Given the description of an element on the screen output the (x, y) to click on. 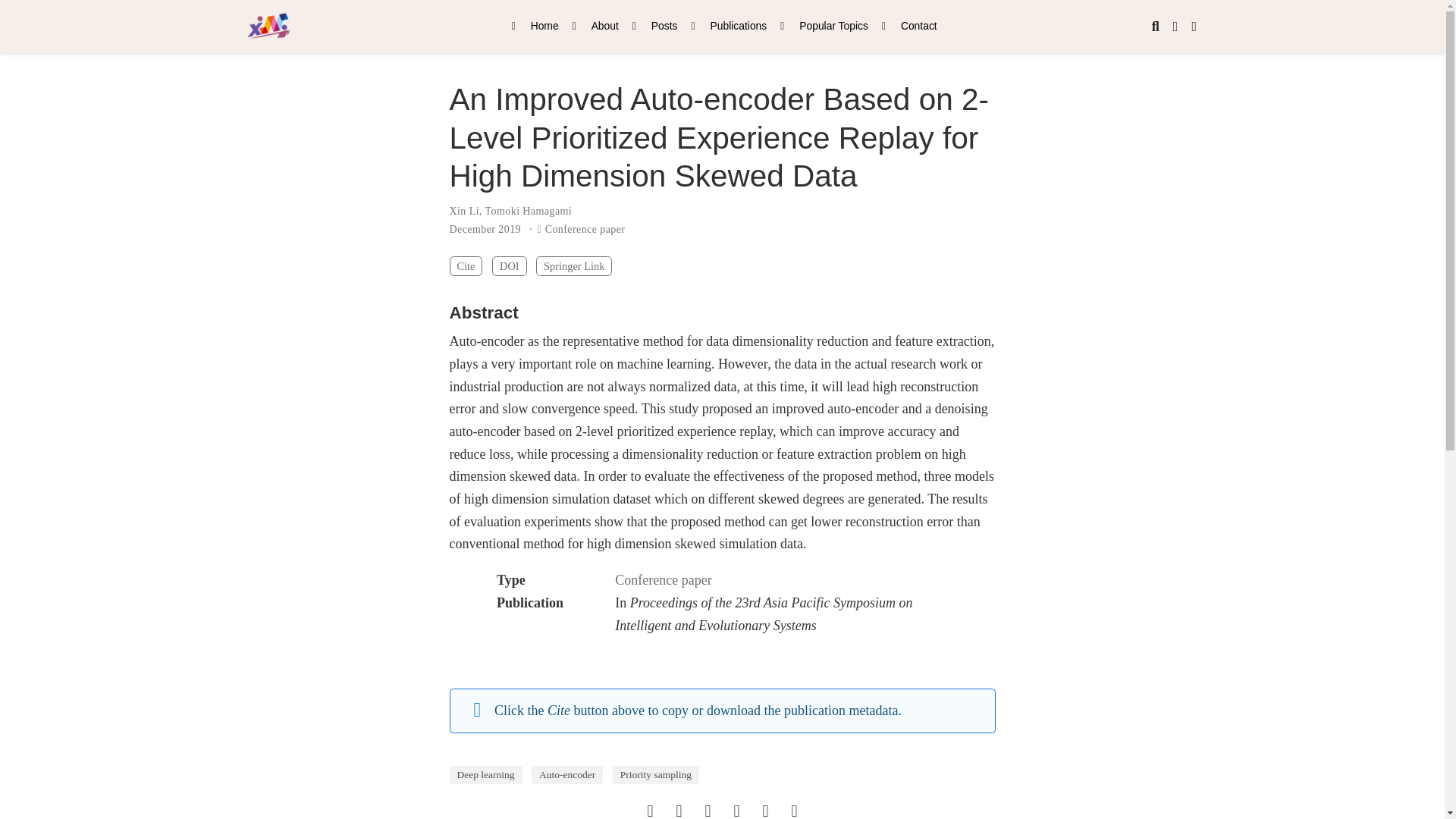
DOI (509, 266)
Popular Topics (824, 26)
Priority sampling (655, 774)
Conference paper (662, 580)
Conference paper (585, 229)
Deep learning (484, 774)
Cite (464, 266)
Springer Link (573, 266)
Xin Li (463, 211)
Home (535, 26)
